Given the description of an element on the screen output the (x, y) to click on. 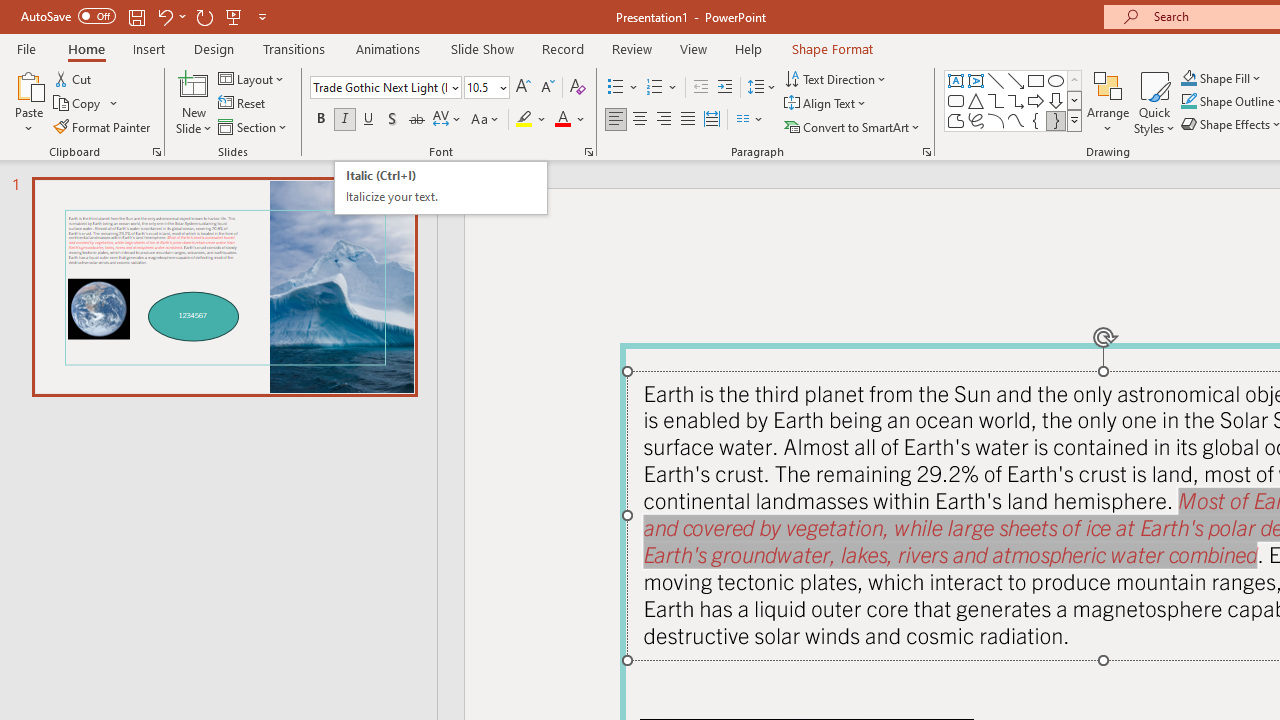
Shape Outline Teal, Accent 1 (1188, 101)
